Given the description of an element on the screen output the (x, y) to click on. 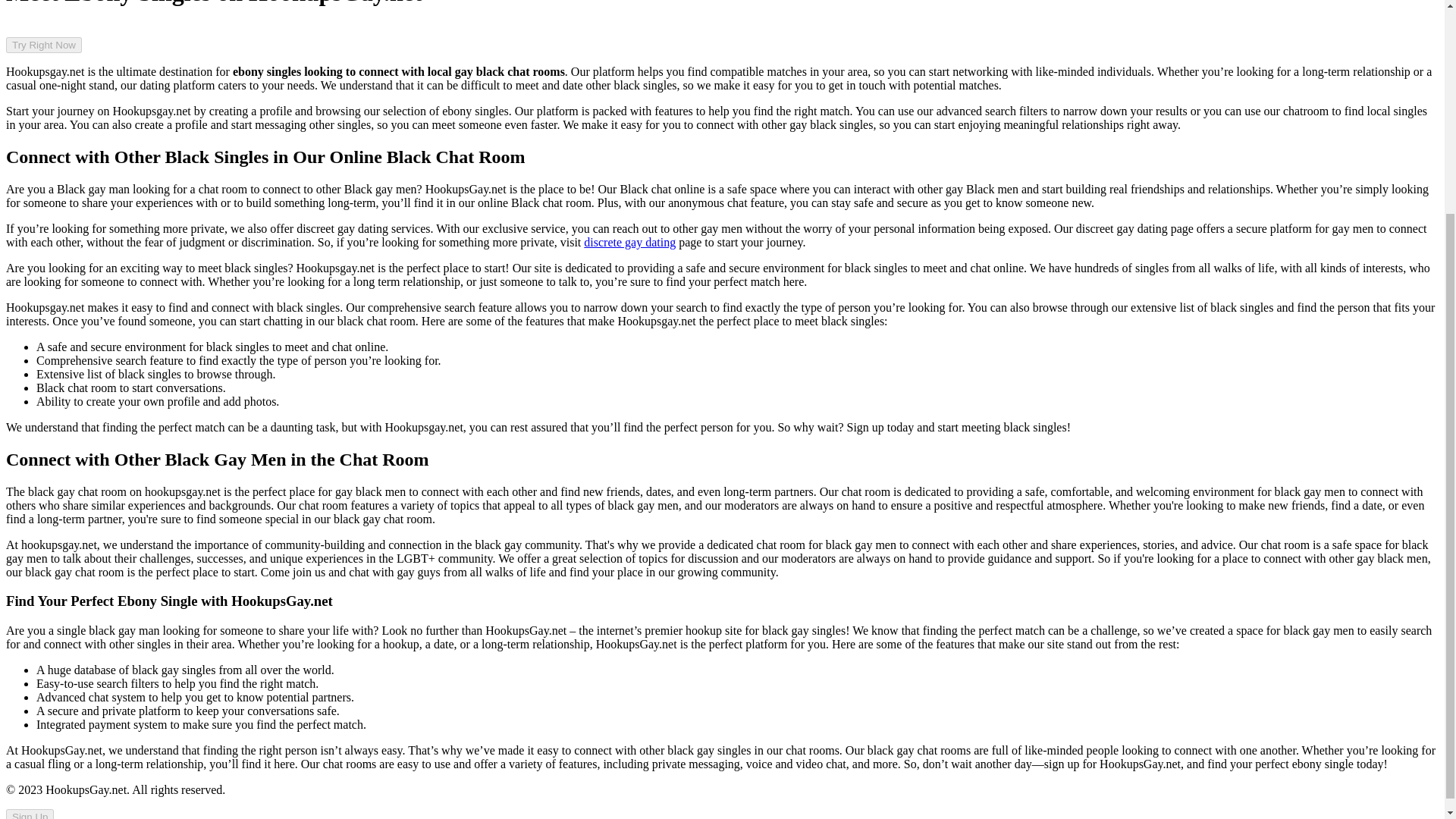
Try Right Now (43, 43)
discrete gay dating (629, 241)
Try Right Now (43, 44)
